Given the description of an element on the screen output the (x, y) to click on. 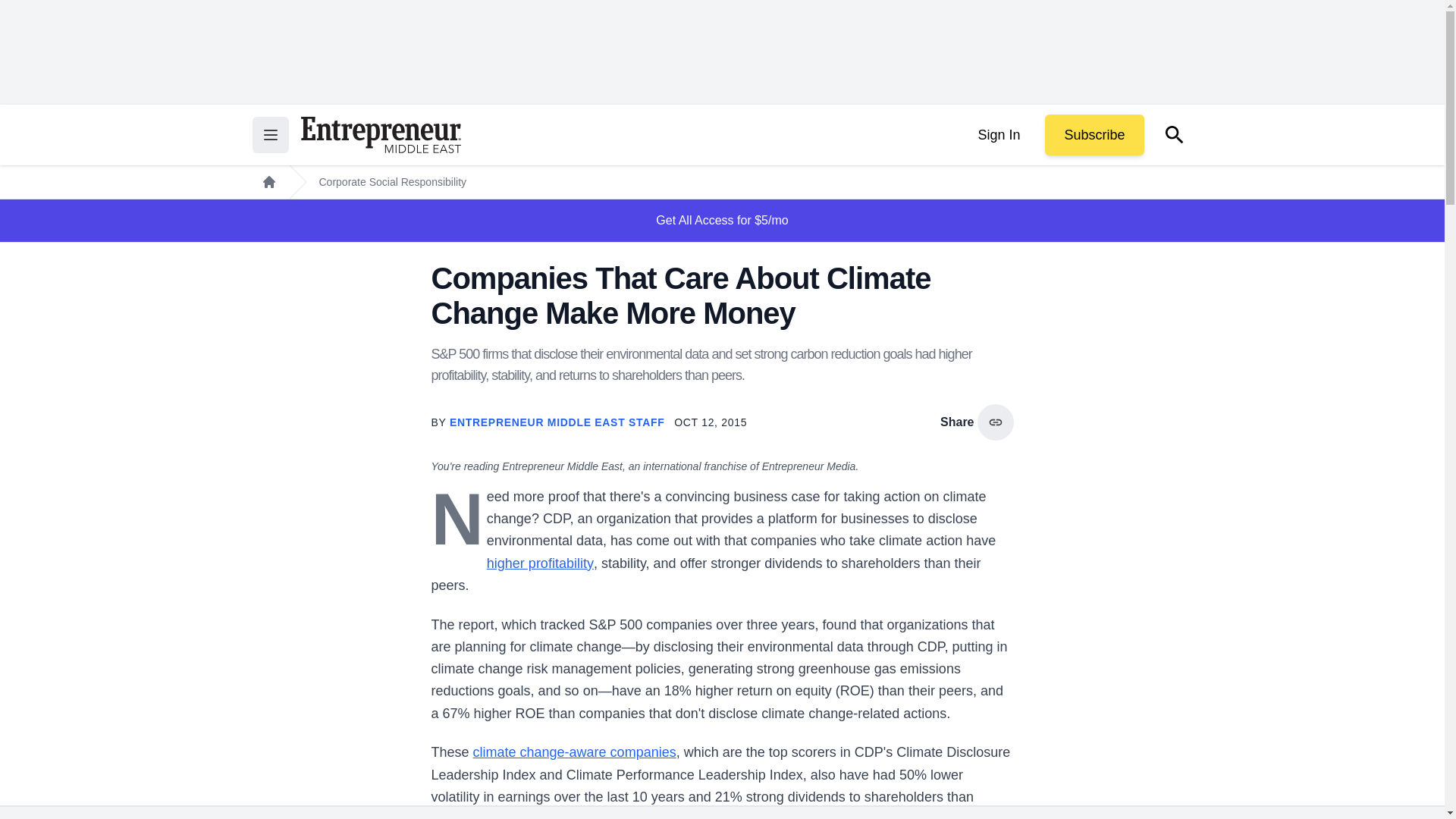
copy (994, 422)
Sign In (998, 134)
Subscribe (1093, 134)
Return to the home page (380, 135)
